Given the description of an element on the screen output the (x, y) to click on. 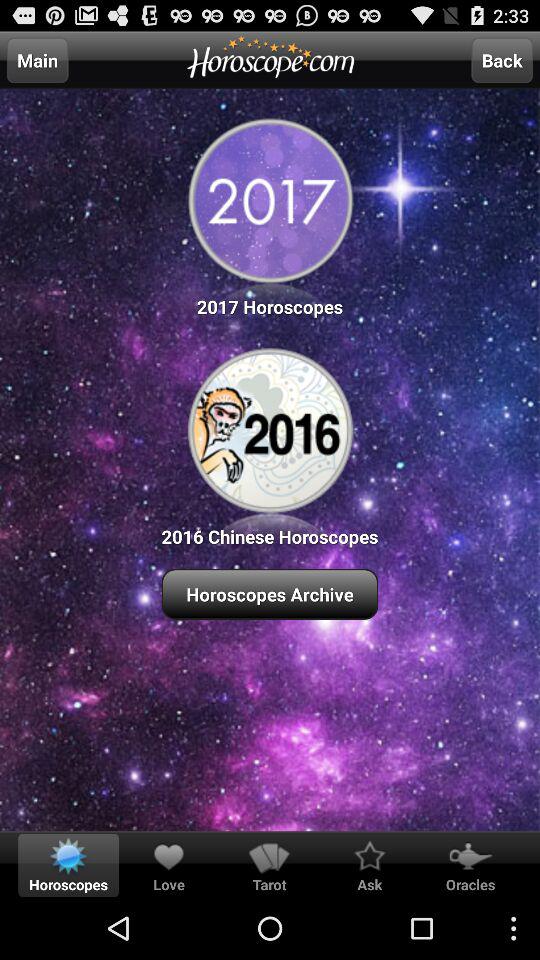
turn off the back button (502, 60)
